Given the description of an element on the screen output the (x, y) to click on. 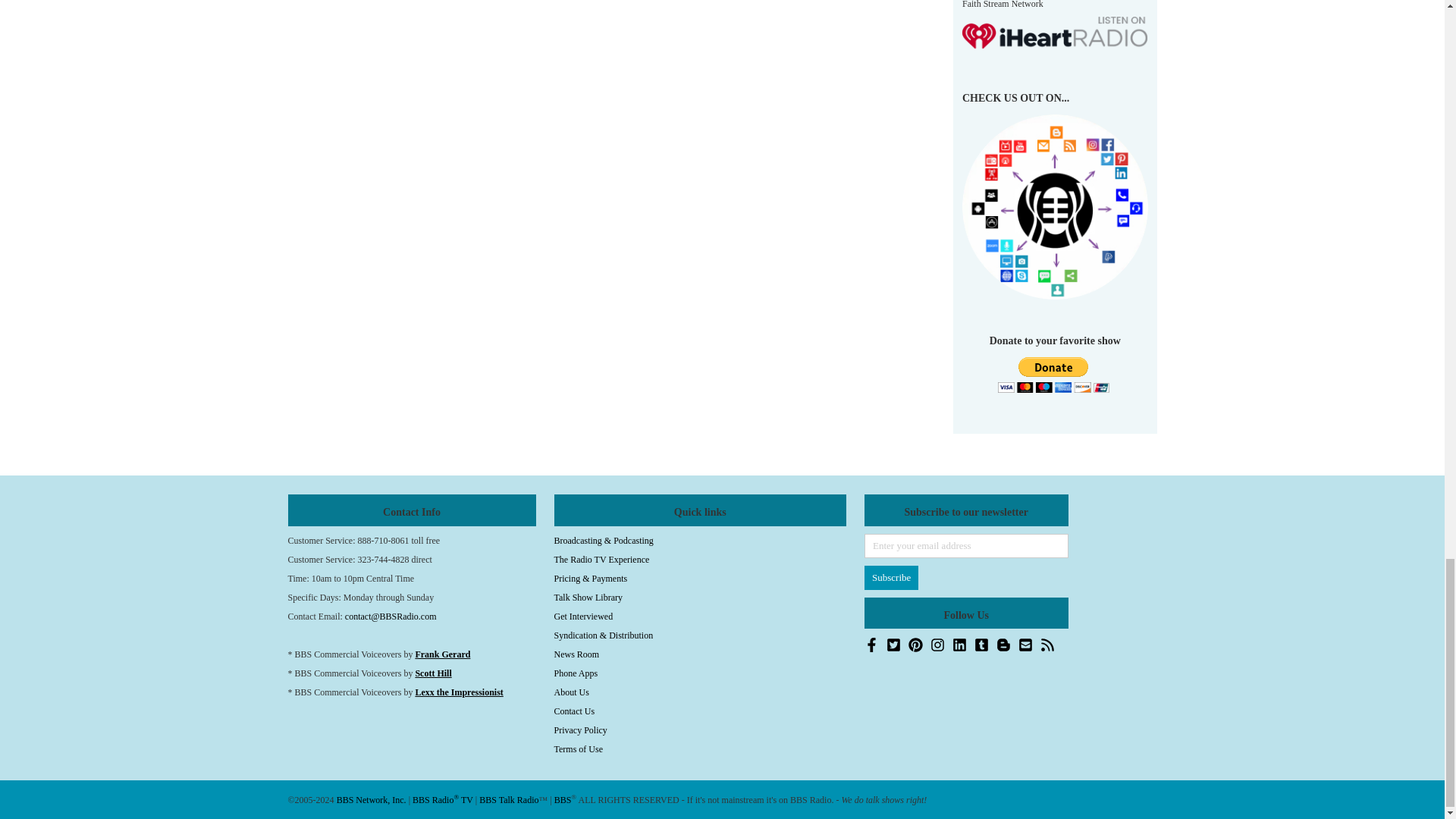
Subscribe (891, 577)
